Given the description of an element on the screen output the (x, y) to click on. 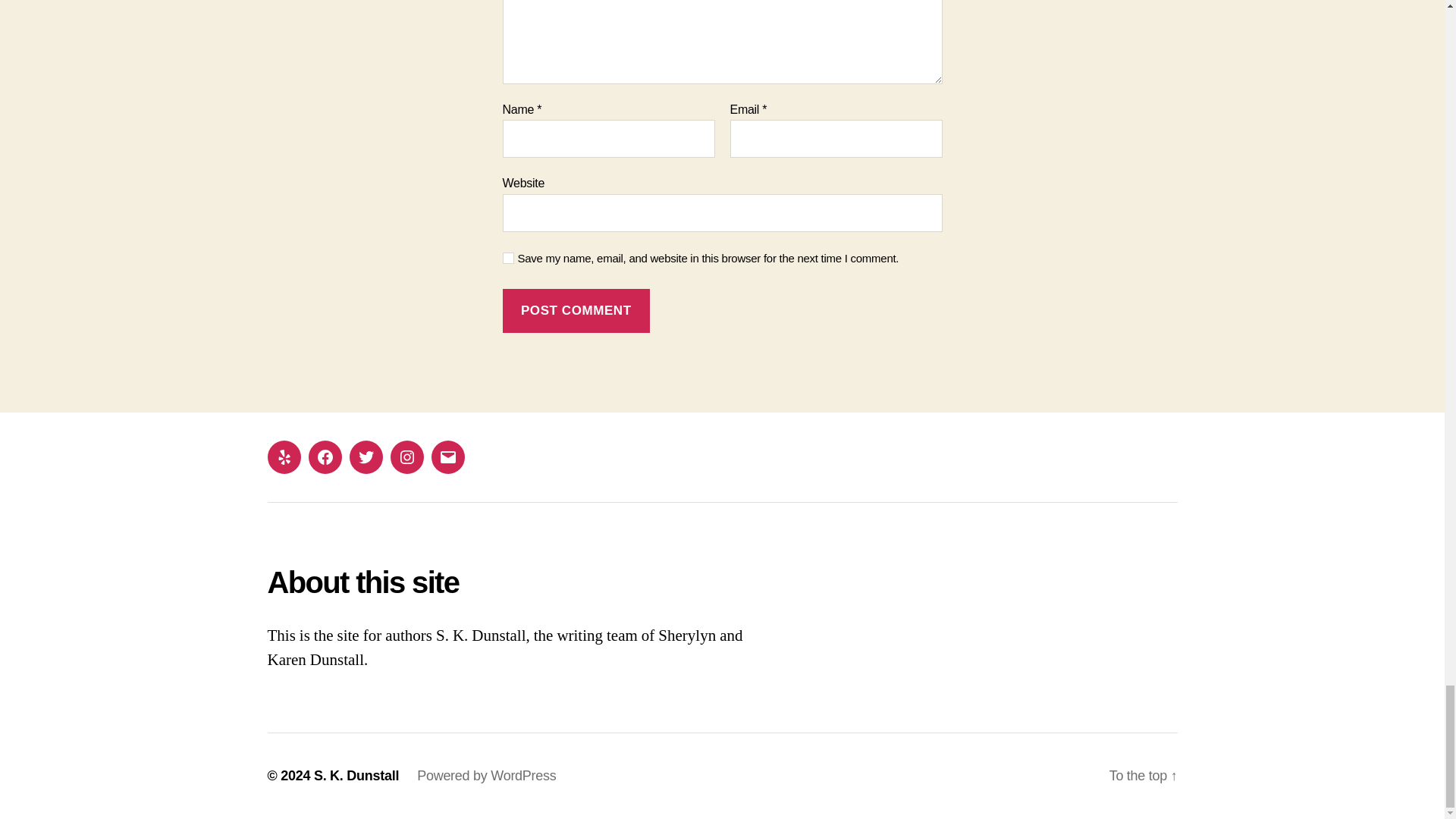
Post Comment (575, 311)
yes (507, 257)
